Given the description of an element on the screen output the (x, y) to click on. 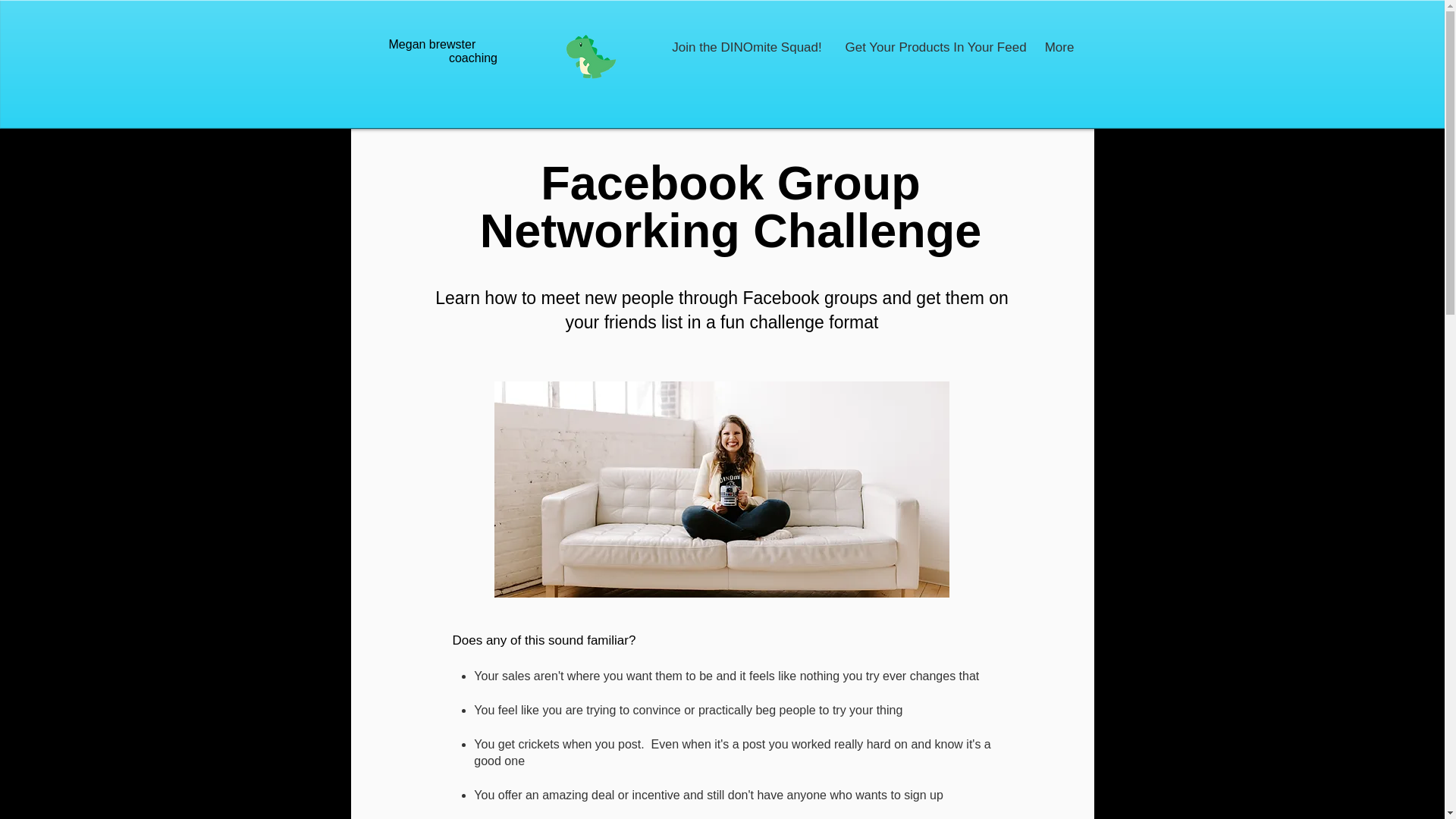
Megan brewster (432, 43)
Get Your Products In Your Feed (933, 47)
Join the DINOmite Squad! (745, 47)
